Given the description of an element on the screen output the (x, y) to click on. 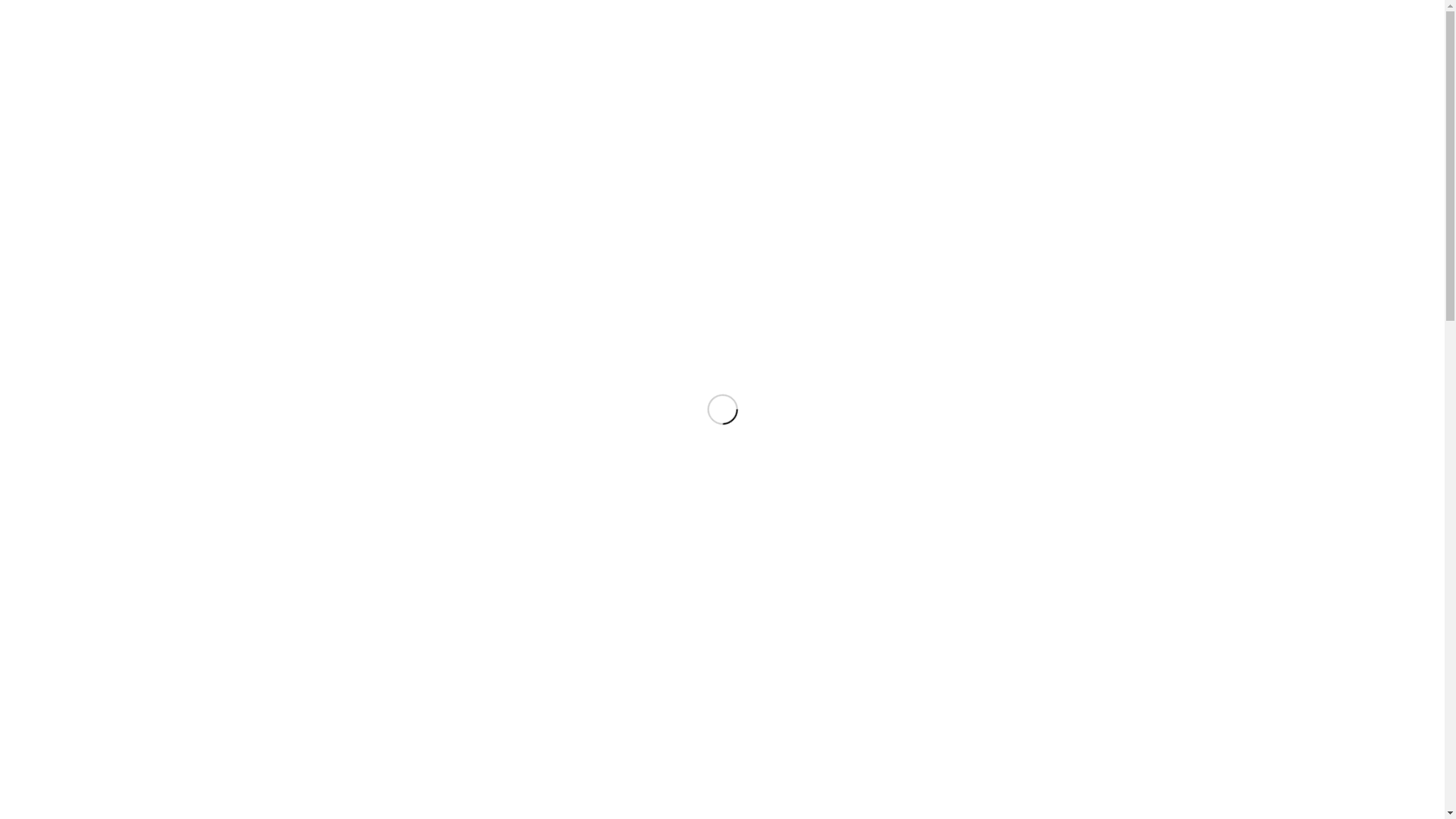
3 Element type: text (722, 500)
4 Element type: text (734, 500)
Hobby Leisure Programs Element type: text (919, 758)
Previous Element type: text (33, 312)
5 Element type: text (746, 500)
2 Element type: text (710, 500)
CourseGuide_306x165_02_02 Element type: hover (966, 654)
Next Element type: text (1410, 312)
Work Skills Programs Element type: text (912, 774)
Home Element type: text (766, 33)
Op Shop Element type: text (1012, 33)
About Us Element type: text (821, 33)
1 Element type: text (698, 500)
Computing and Digital Media Element type: text (928, 741)
Services Element type: text (883, 33)
